Given the description of an element on the screen output the (x, y) to click on. 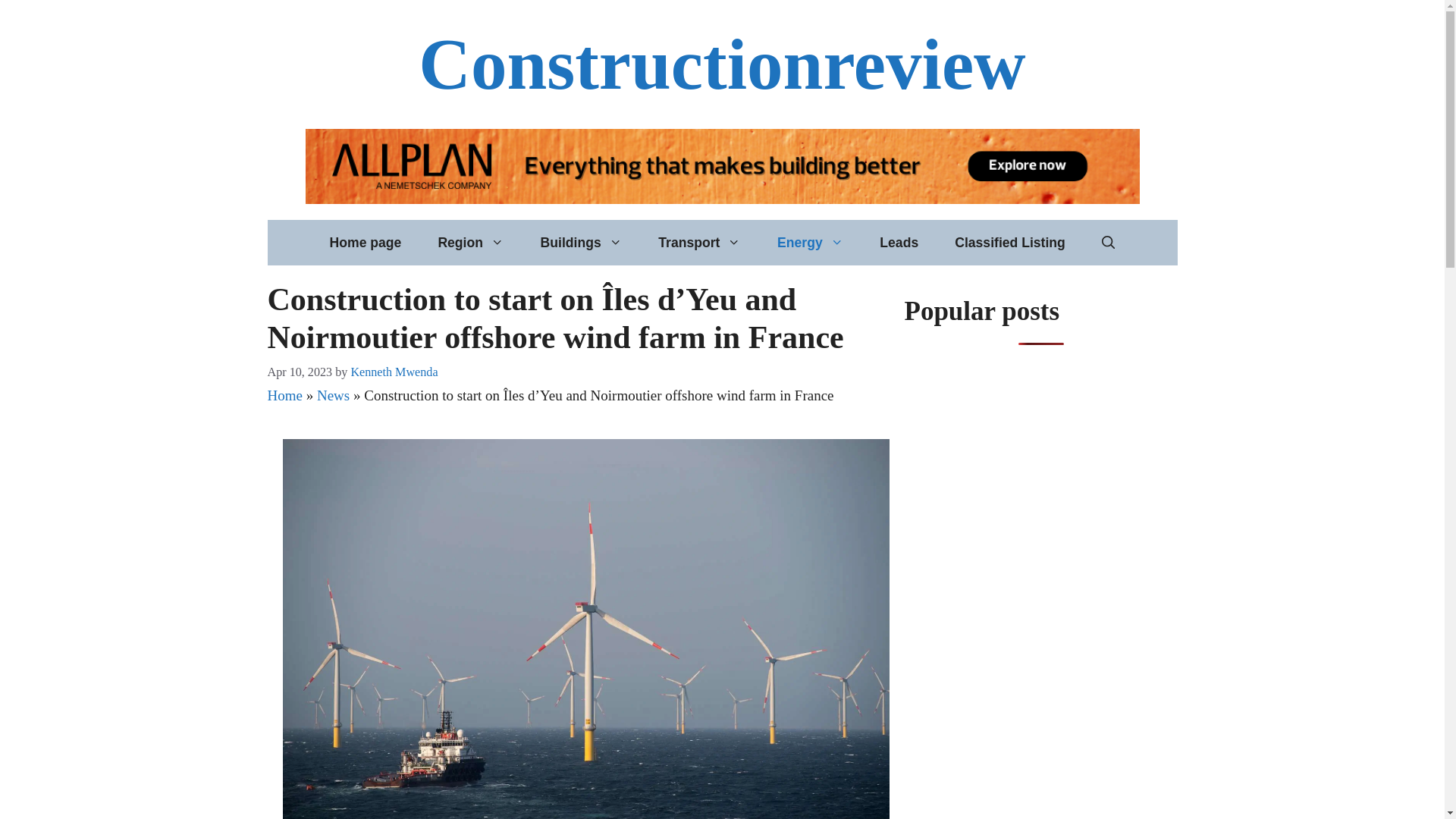
Constructionreview (722, 64)
Home page (365, 242)
Classified Listing (1009, 242)
Transport (699, 242)
Region (470, 242)
Energy (809, 242)
View all posts by Kenneth Mwenda (394, 371)
Buildings (581, 242)
Leads (898, 242)
